Given the description of an element on the screen output the (x, y) to click on. 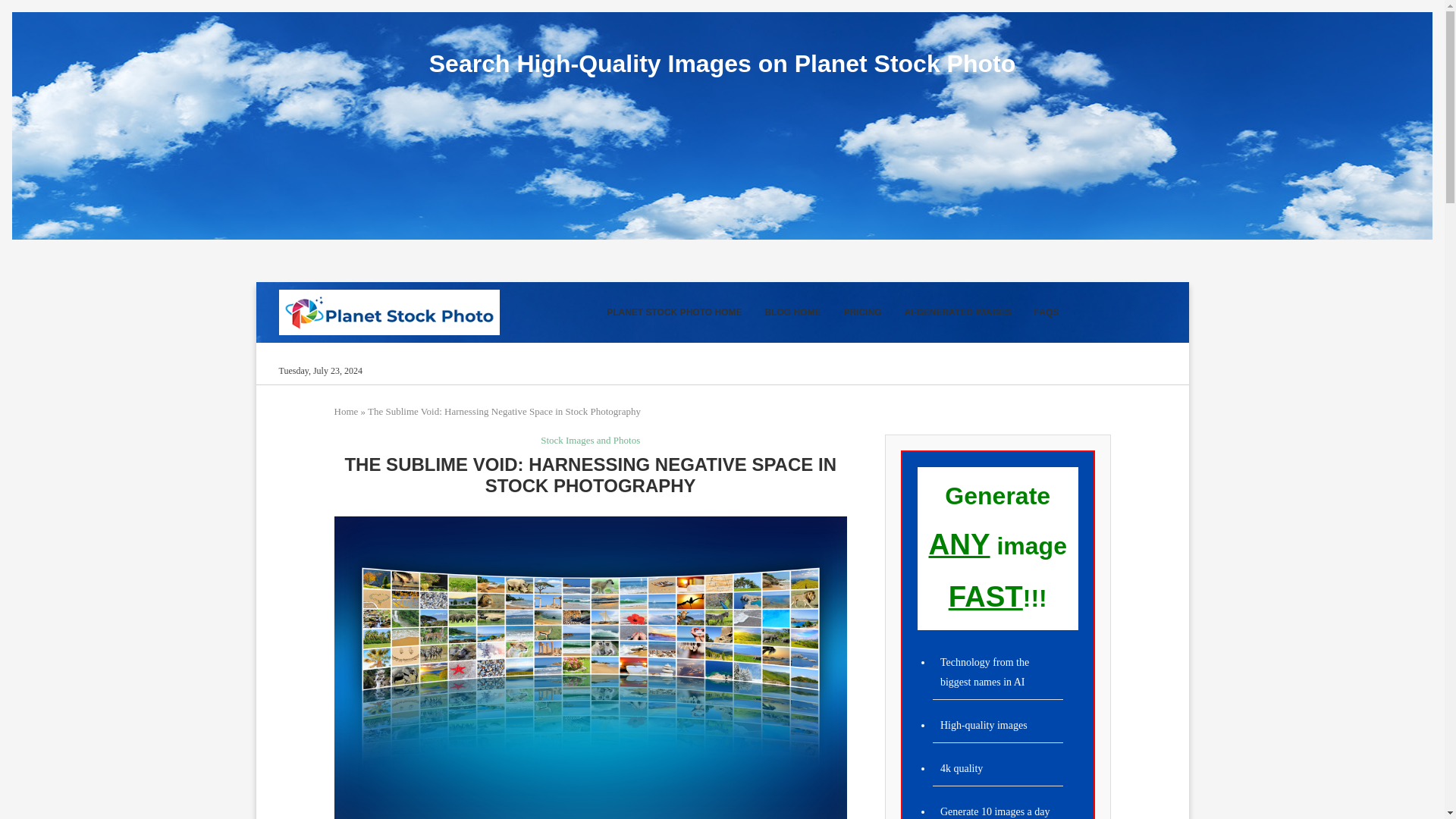
BLOG HOME (792, 312)
AI-GENERATED IMAGES (957, 312)
Stock Images and Photos (590, 440)
PLANET STOCK PHOTO HOME (674, 312)
Home (345, 410)
